Given the description of an element on the screen output the (x, y) to click on. 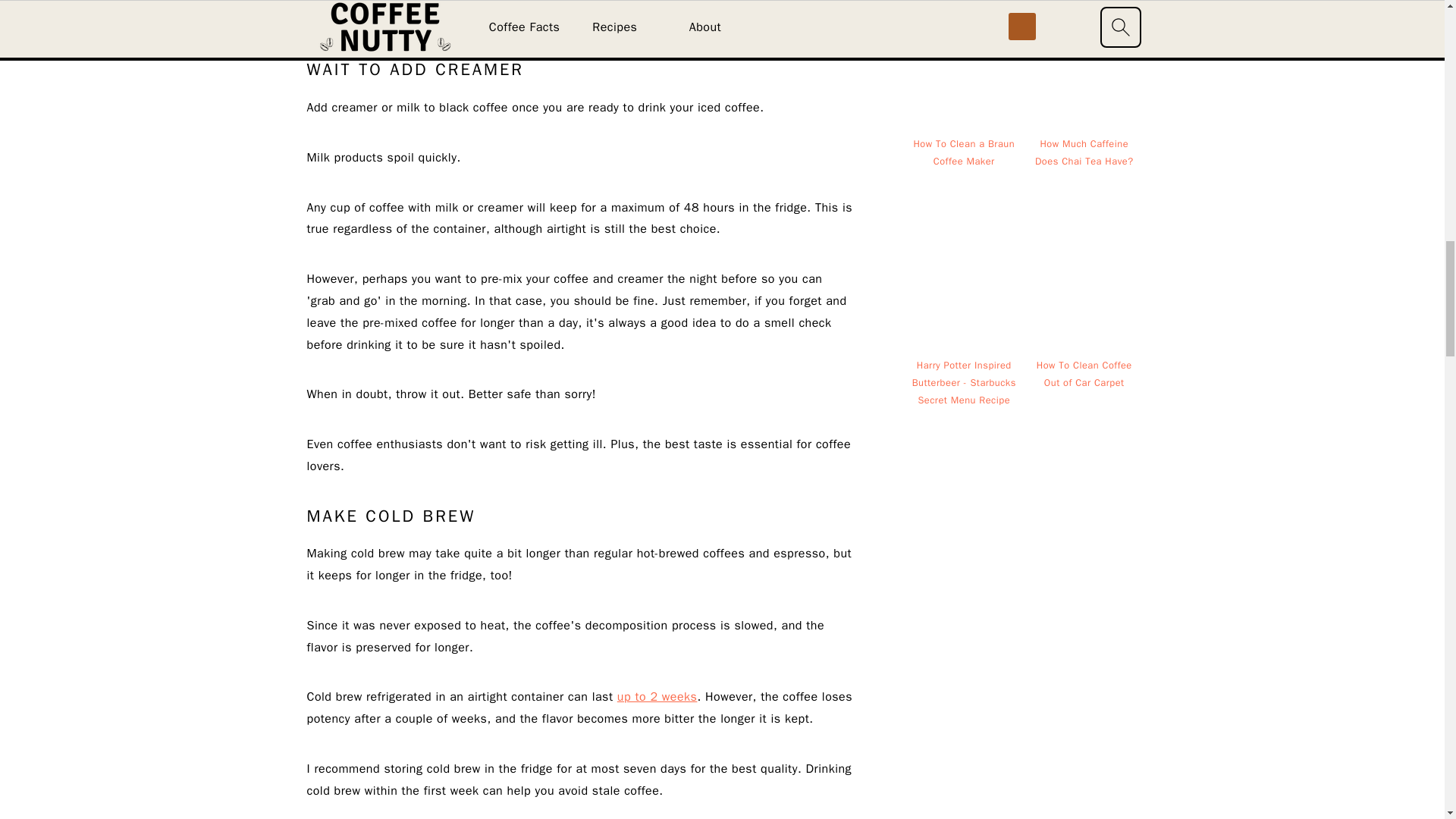
up to 2 weeks (657, 696)
The 13 Best Coffee Containers - 2023 (604, 20)
